Given the description of an element on the screen output the (x, y) to click on. 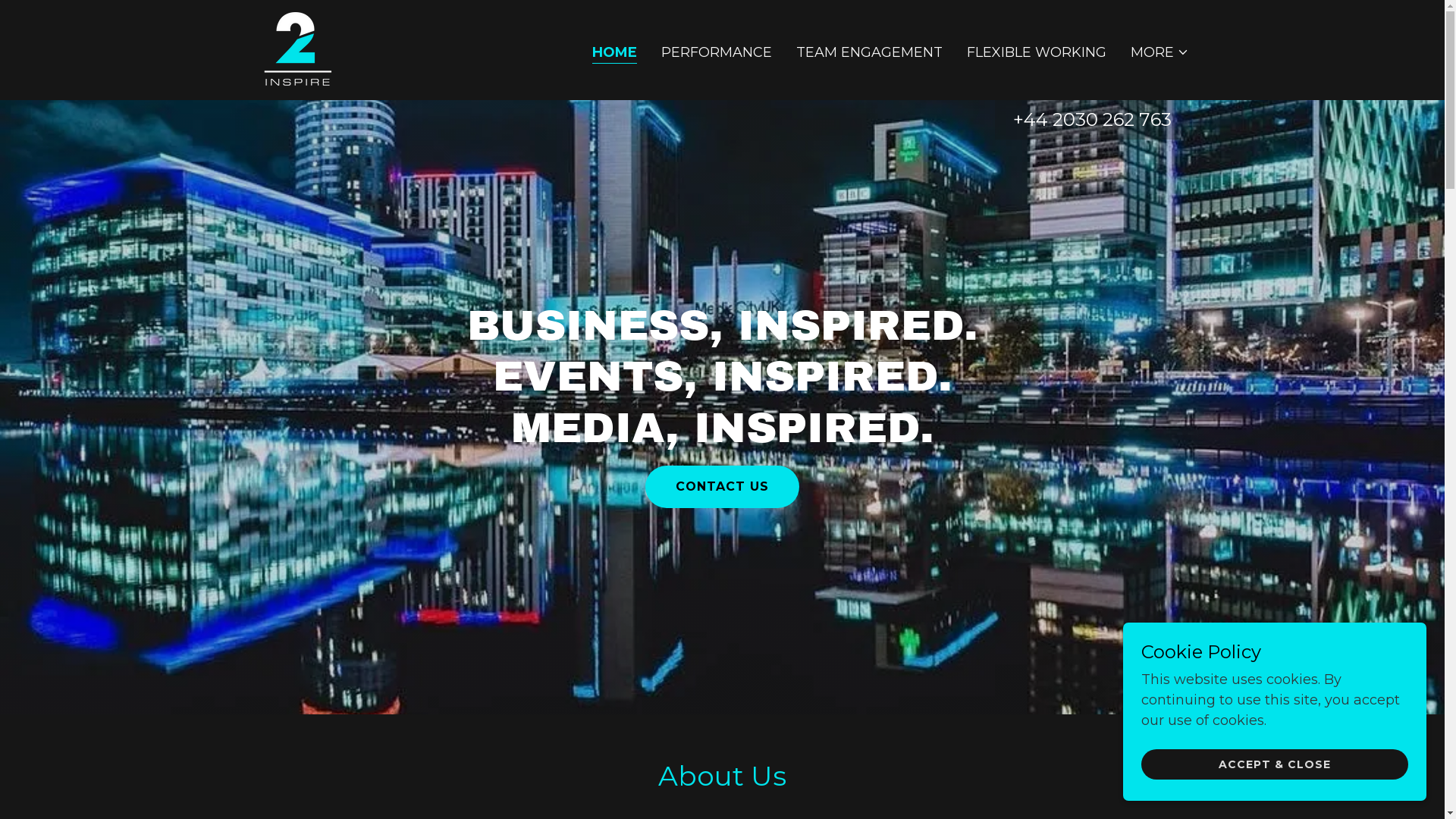
2 inspire Element type: hover (296, 48)
HOME Element type: text (614, 52)
FLEXIBLE WORKING Element type: text (1036, 51)
TEAM ENGAGEMENT Element type: text (869, 51)
MORE Element type: text (1159, 51)
PERFORMANCE Element type: text (716, 51)
+44 2030 262 763 Element type: text (1092, 119)
ACCEPT & CLOSE Element type: text (1274, 764)
CONTACT US Element type: text (722, 486)
